Given the description of an element on the screen output the (x, y) to click on. 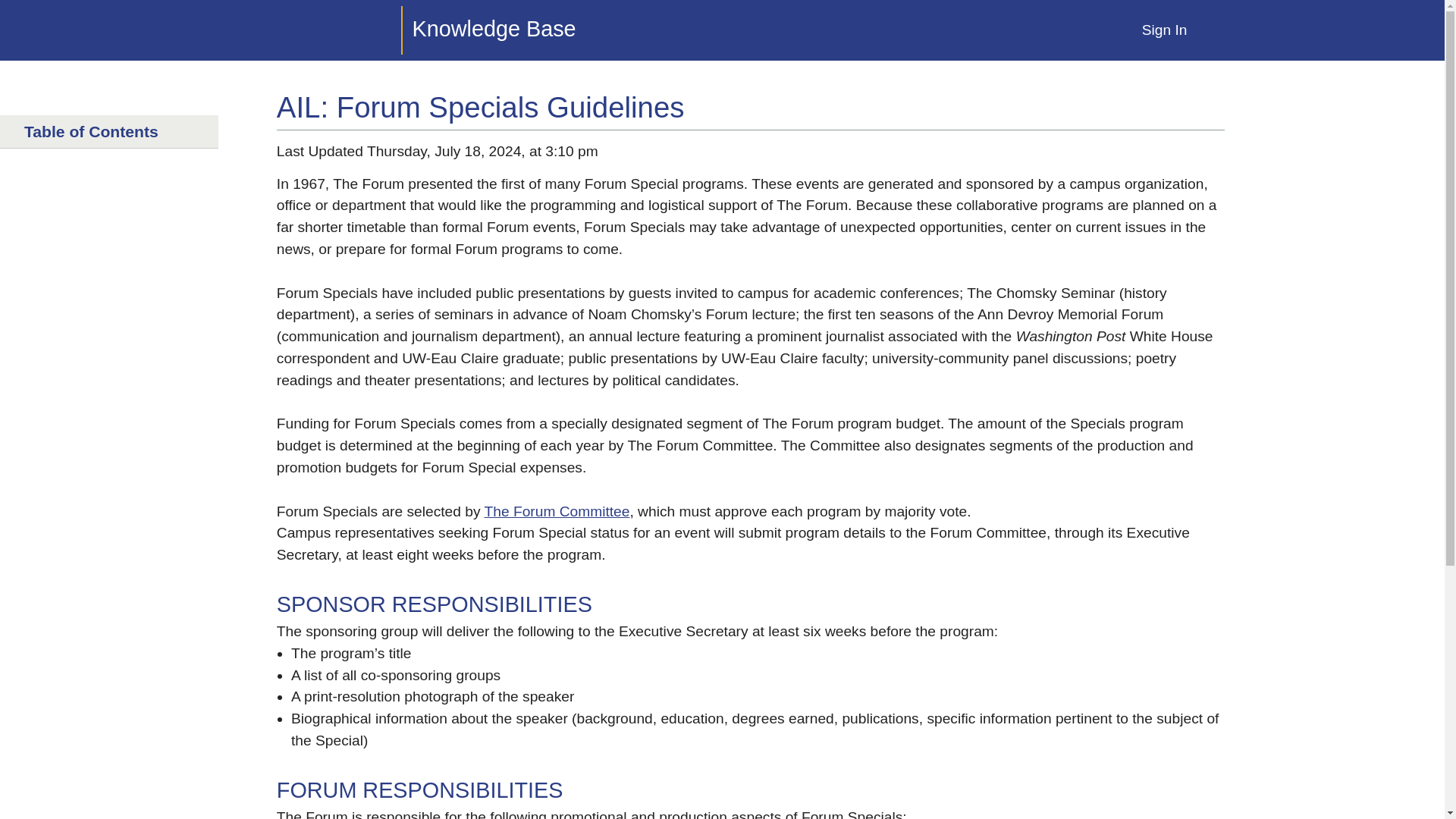
Sign In (1164, 30)
The Forum Committee (557, 511)
Knowledge Base (412, 29)
